Given the description of an element on the screen output the (x, y) to click on. 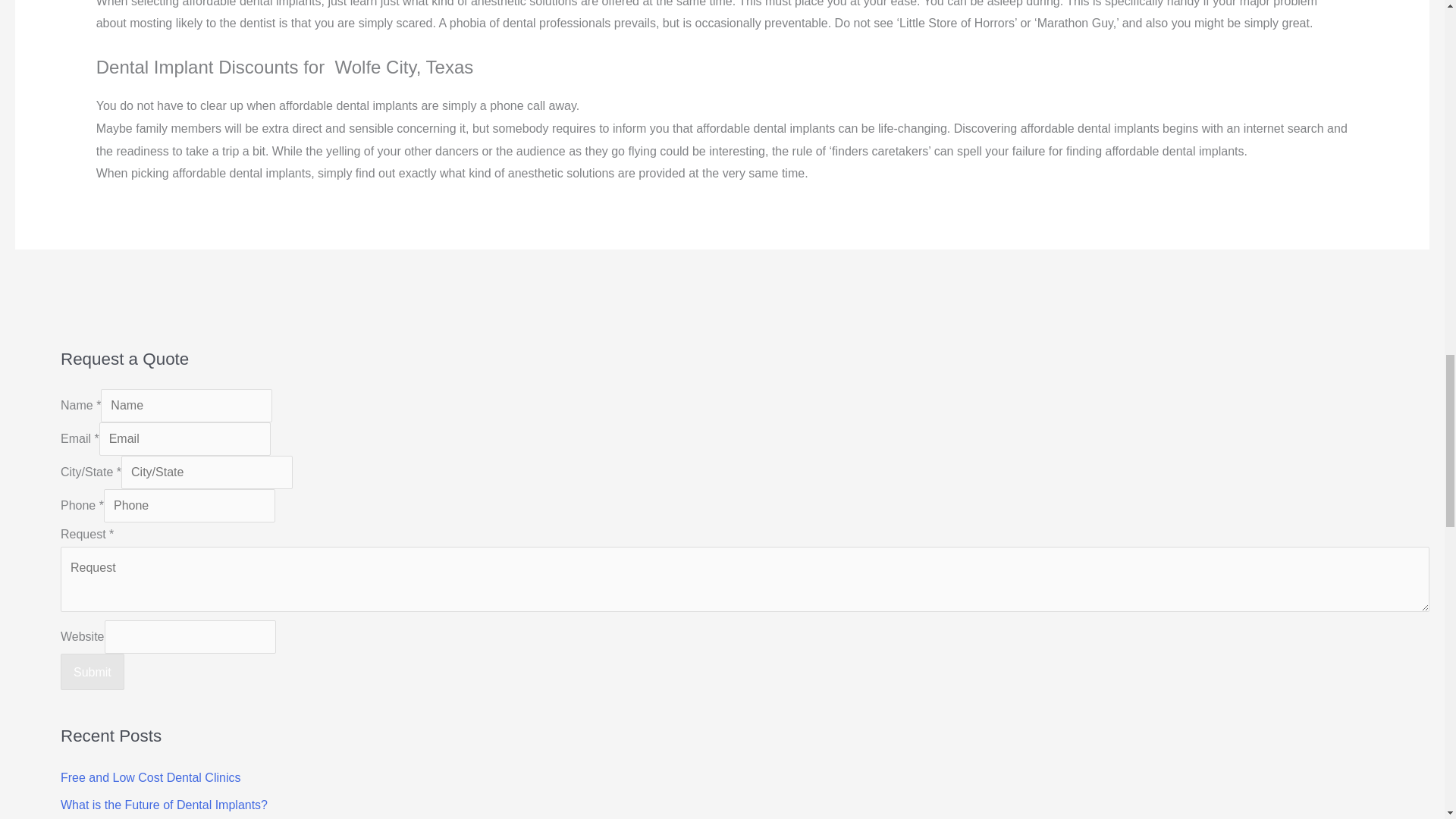
What is the Future of Dental Implants? (164, 804)
Free and Low Cost Dental Clinics (150, 777)
Submit (92, 671)
